Given the description of an element on the screen output the (x, y) to click on. 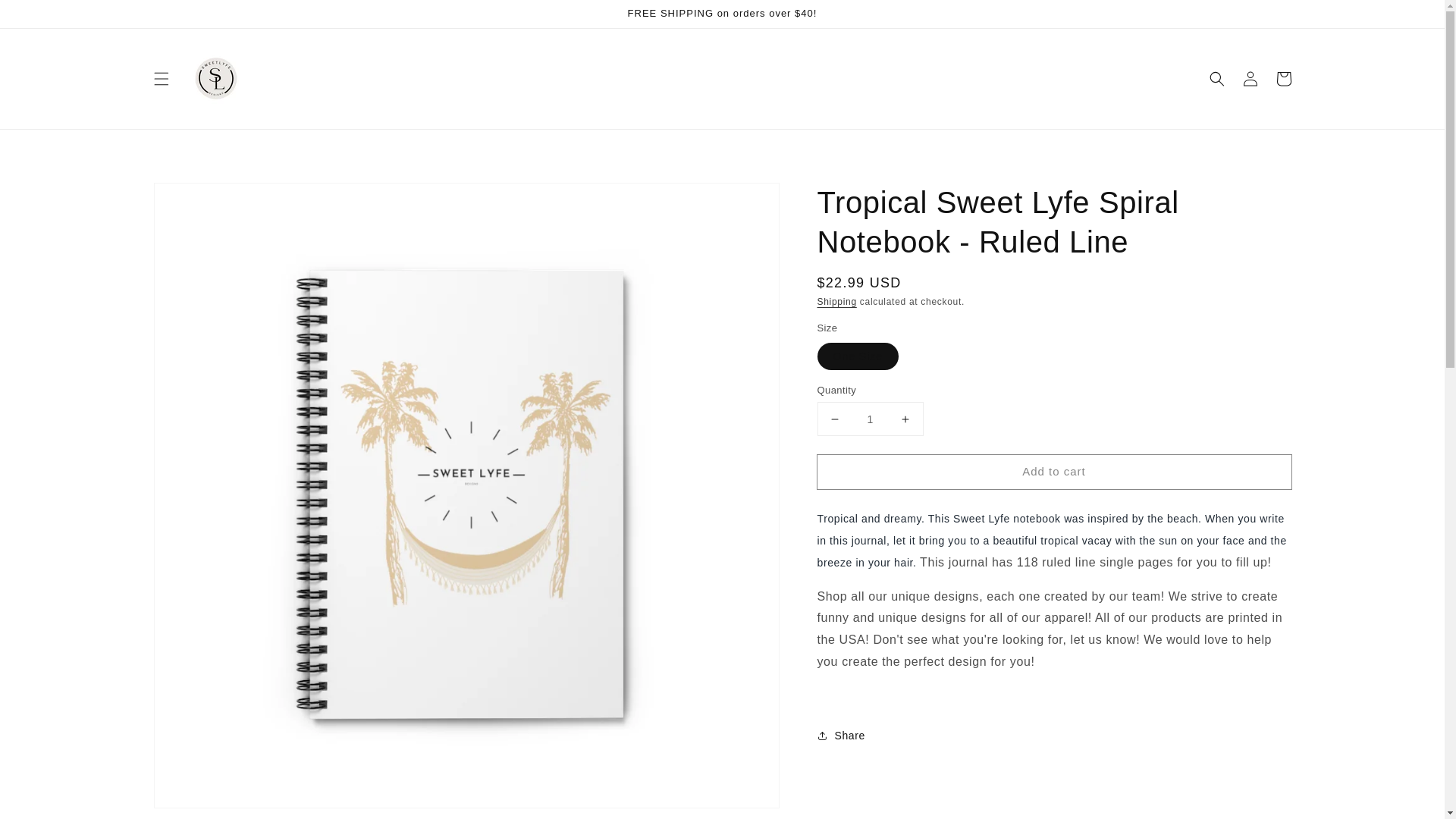
Log in (1249, 78)
Skip to product information (198, 198)
1 (869, 418)
Skip to content (45, 16)
Cart (1283, 78)
